Given the description of an element on the screen output the (x, y) to click on. 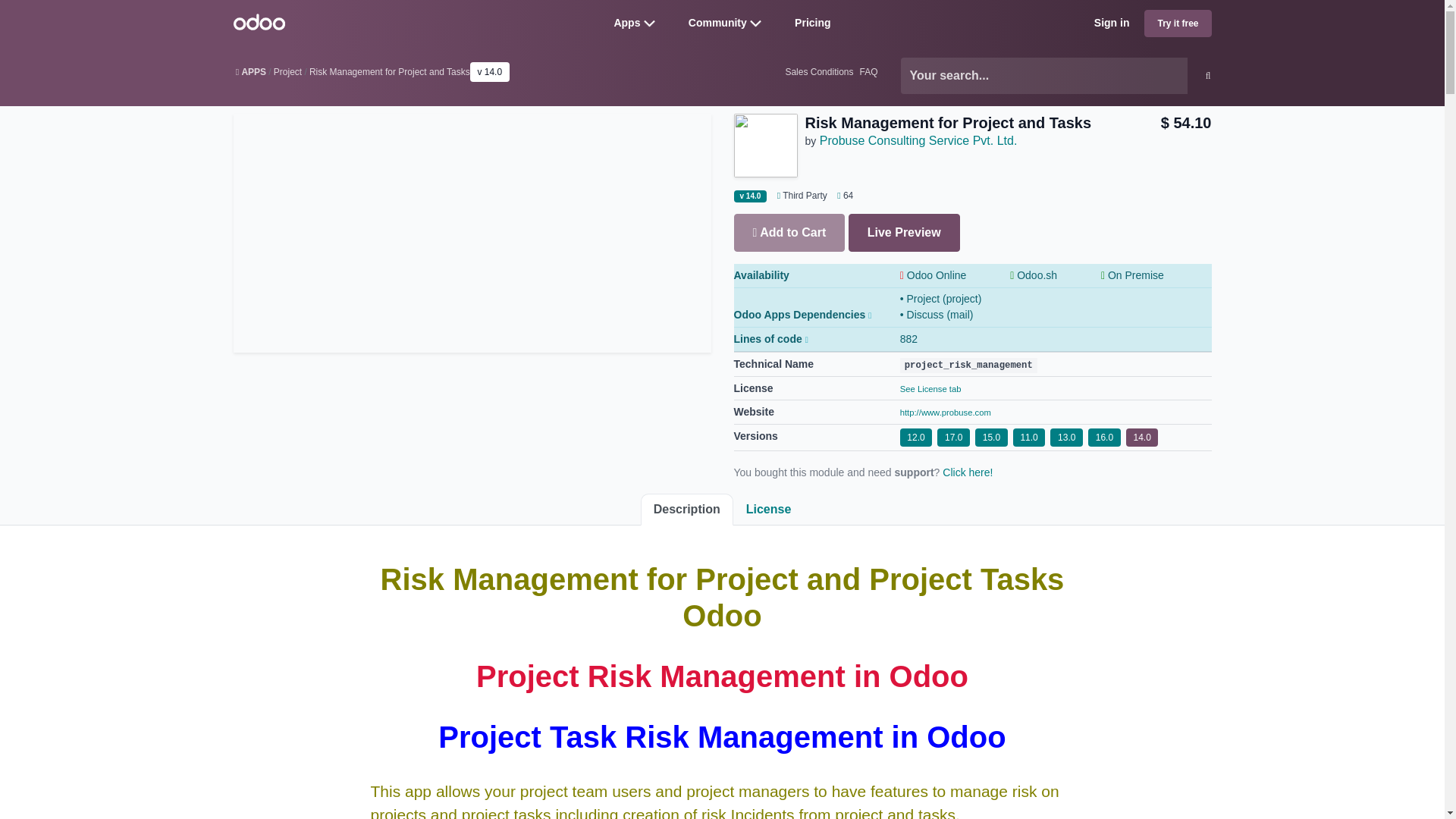
Odoo (258, 21)
Sign in (1111, 22)
Purchases (841, 195)
Apps (626, 22)
Try it free (1177, 22)
